Given the description of an element on the screen output the (x, y) to click on. 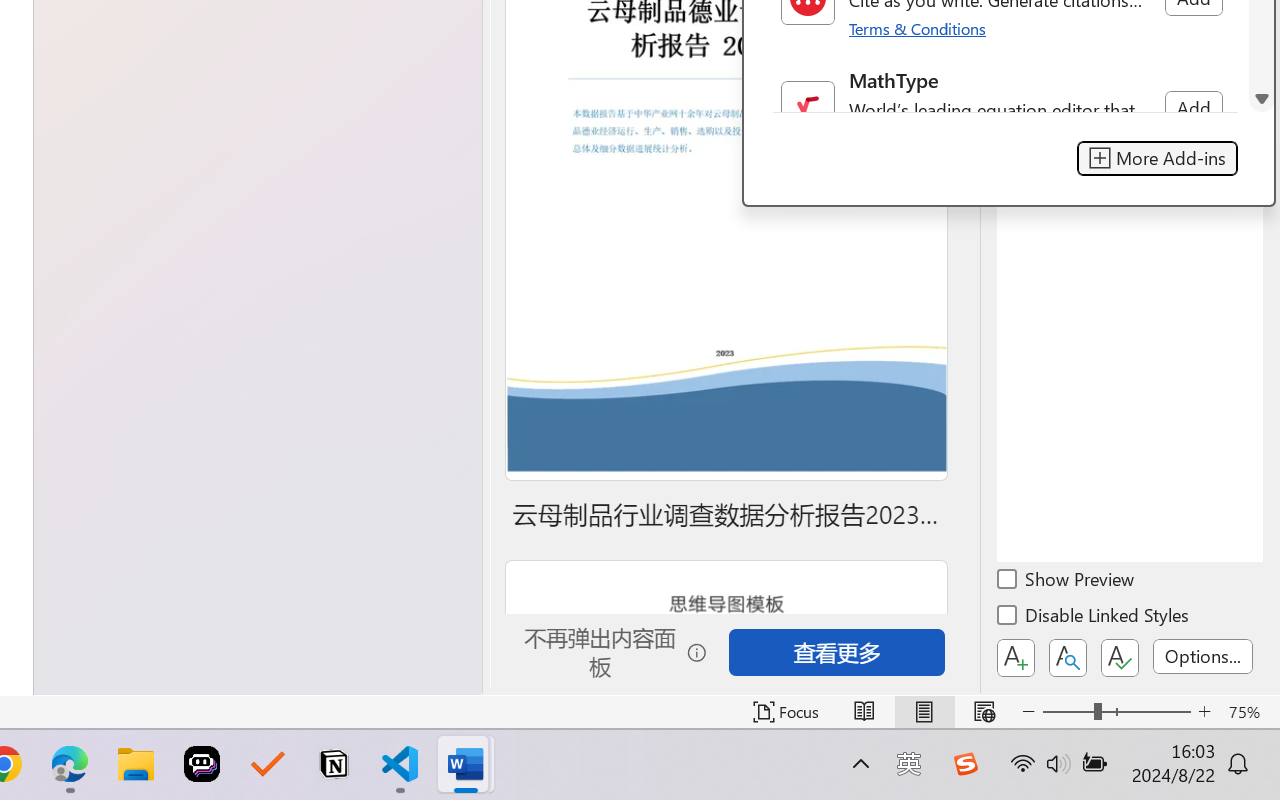
Zoom Out (1067, 712)
Class: NetUIButton (1119, 657)
Line down (1261, 99)
Disable Linked Styles (1094, 618)
Zoom In (1204, 712)
Options... (1203, 656)
Web Layout (984, 712)
Show Preview (1067, 582)
Add (1193, 108)
